Given the description of an element on the screen output the (x, y) to click on. 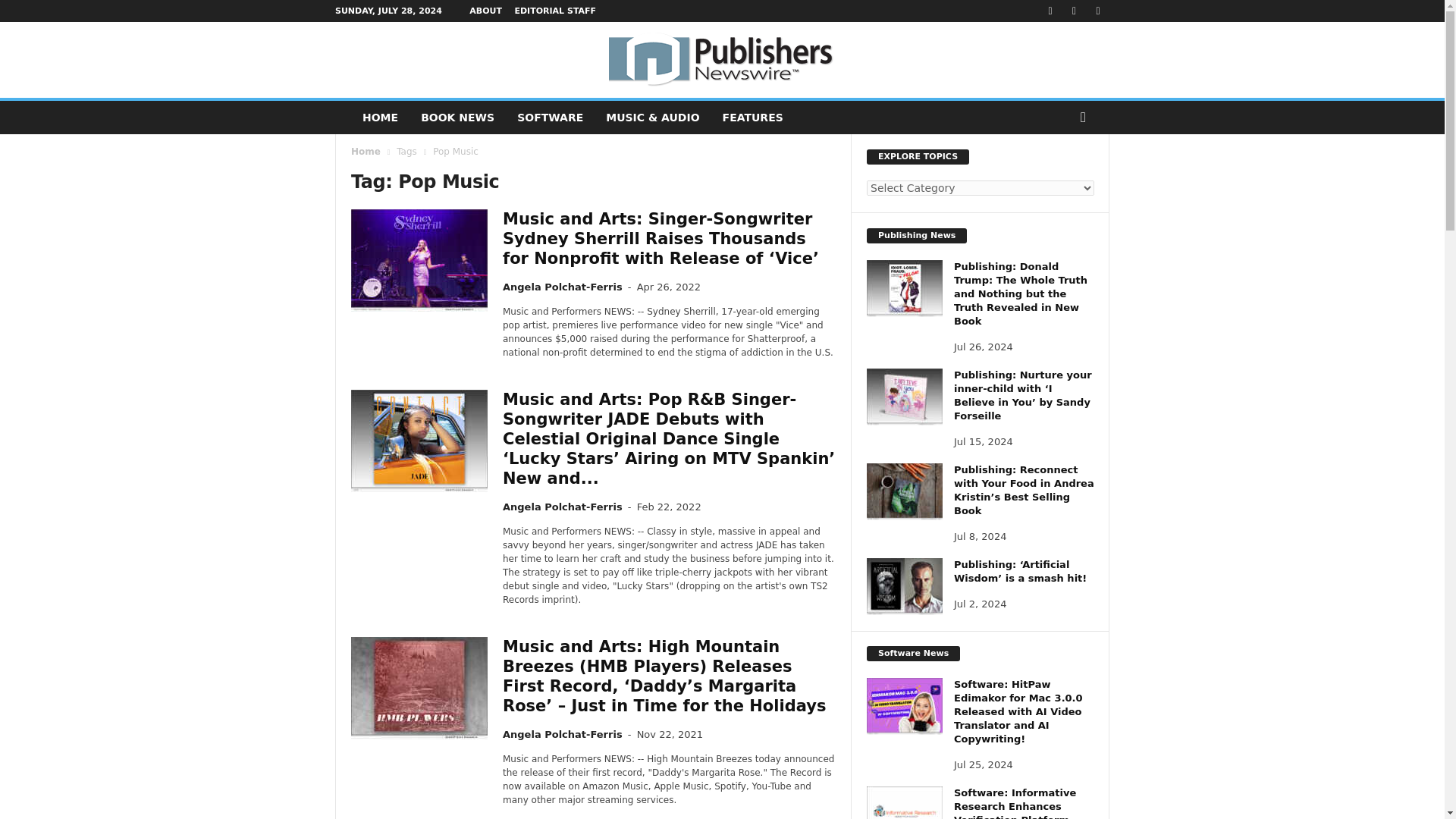
BOOK NEWS (457, 117)
Angela Polchat-Ferris (562, 506)
EDITORIAL STAFF (554, 10)
Home (365, 151)
ABOUT (485, 10)
HOME (379, 117)
Angela Polchat-Ferris (562, 734)
SOFTWARE (549, 117)
Angela Polchat-Ferris (562, 286)
FEATURES (752, 117)
